Given the description of an element on the screen output the (x, y) to click on. 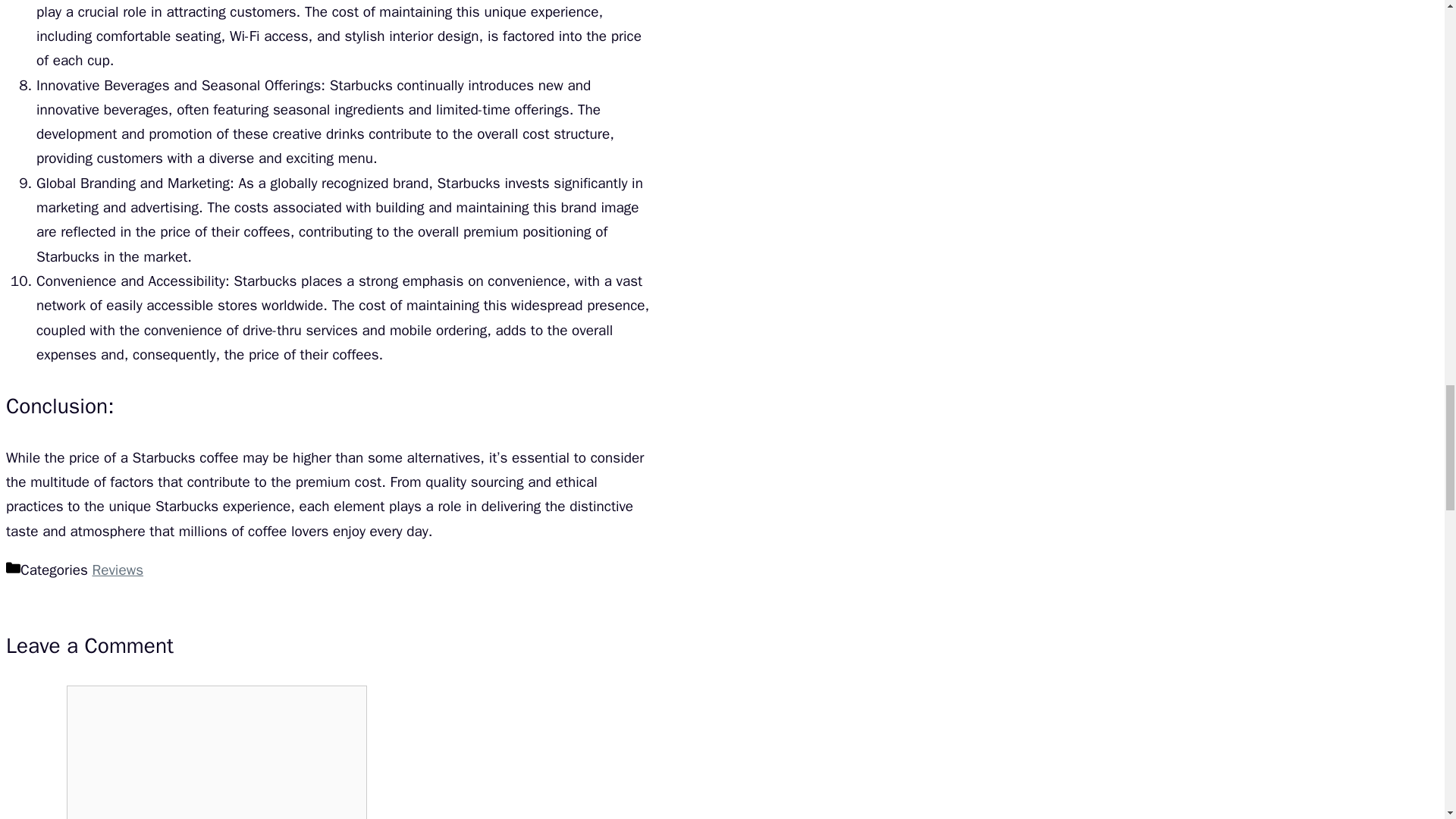
Reviews (116, 570)
